Given the description of an element on the screen output the (x, y) to click on. 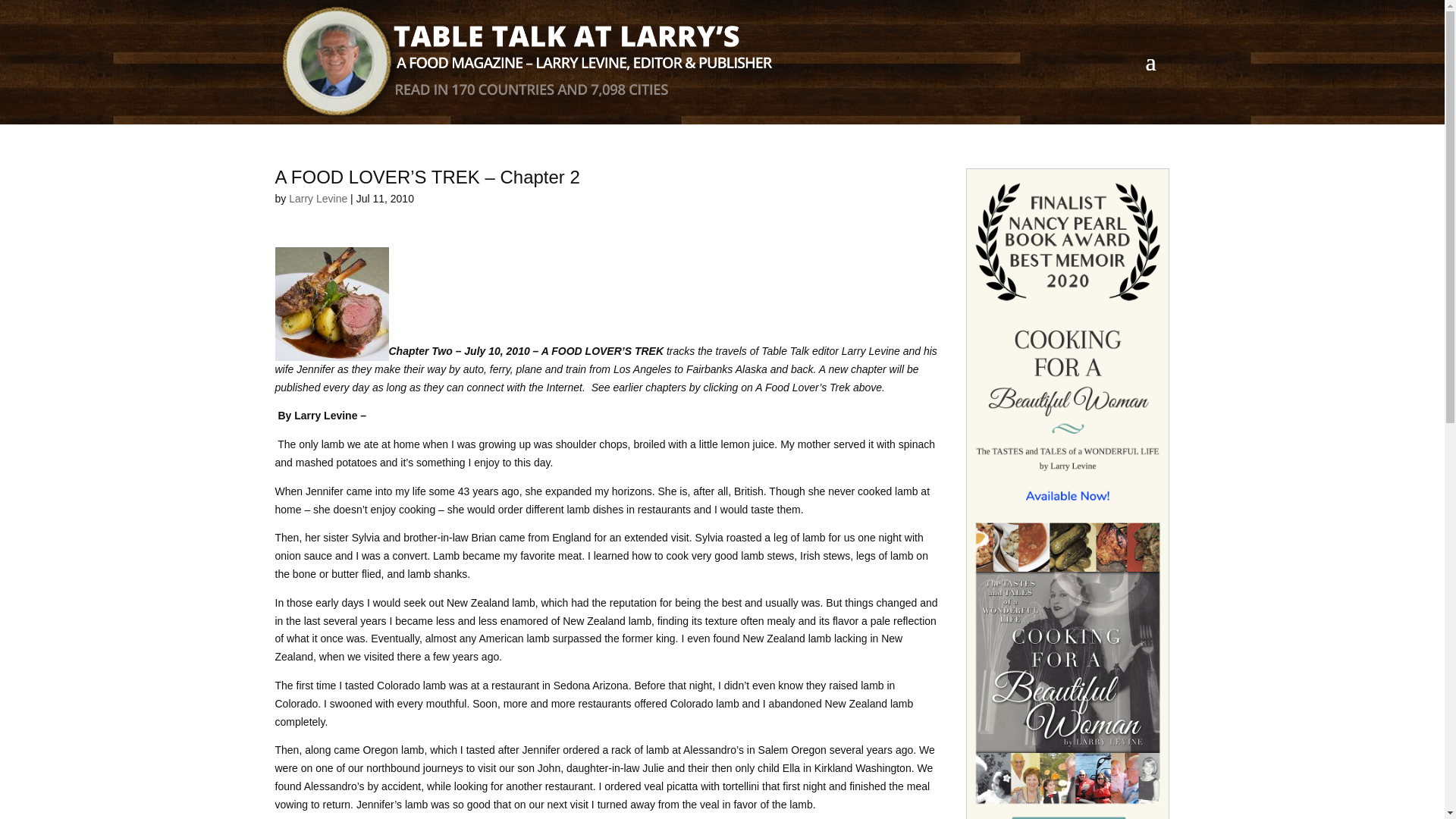
Posts by Larry Levine (317, 198)
Larry Levine (317, 198)
Rack of lamb (331, 304)
